Given the description of an element on the screen output the (x, y) to click on. 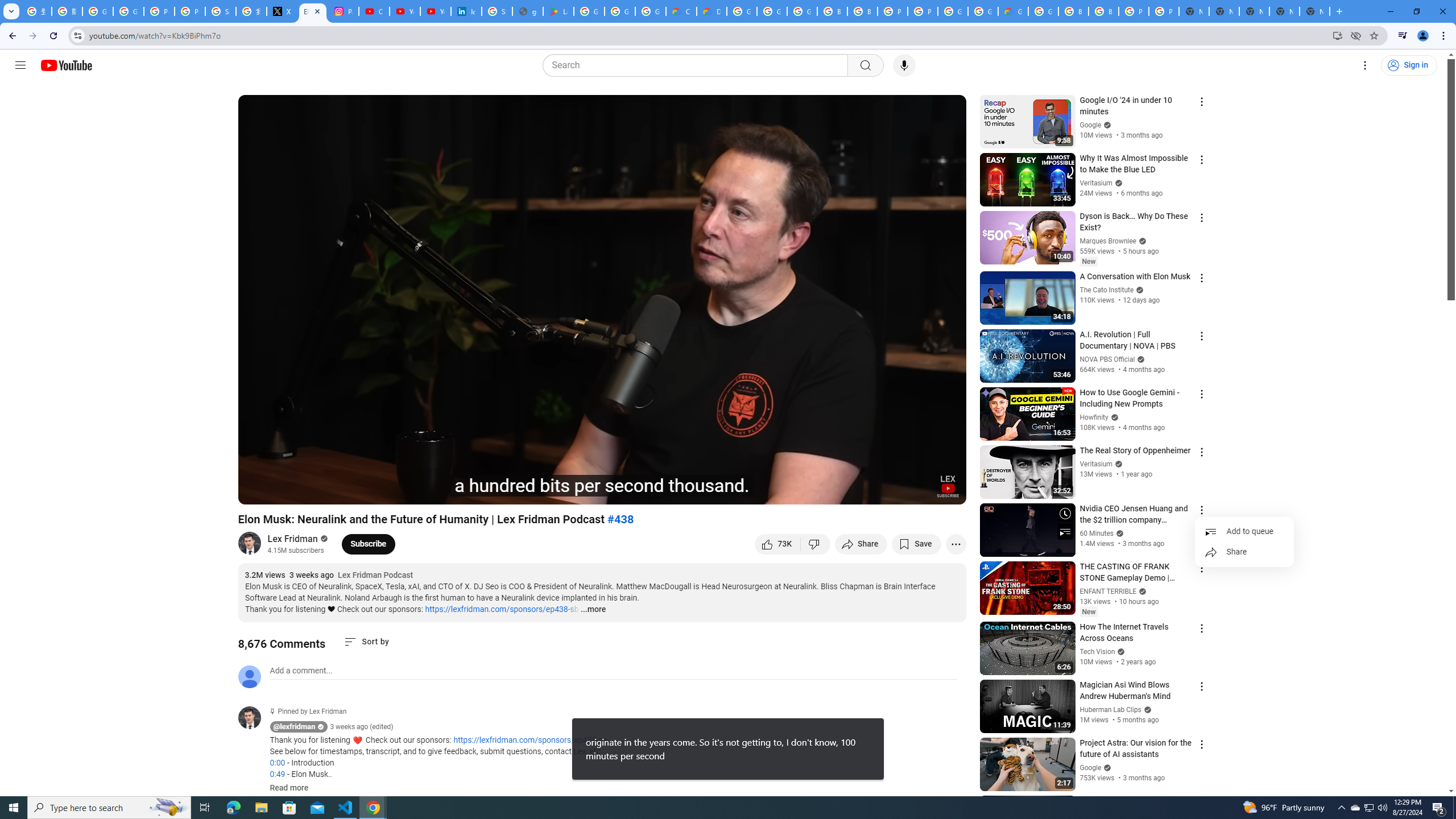
Share (1243, 552)
Dislike this video (815, 543)
Add to queue (1243, 531)
Last Shelter: Survival - Apps on Google Play (558, 11)
Miniplayer (i) (890, 490)
Google Cloud Platform (982, 11)
0:00 (277, 763)
Subtitles/closed captions unavailable (836, 490)
#438 (620, 519)
